Given the description of an element on the screen output the (x, y) to click on. 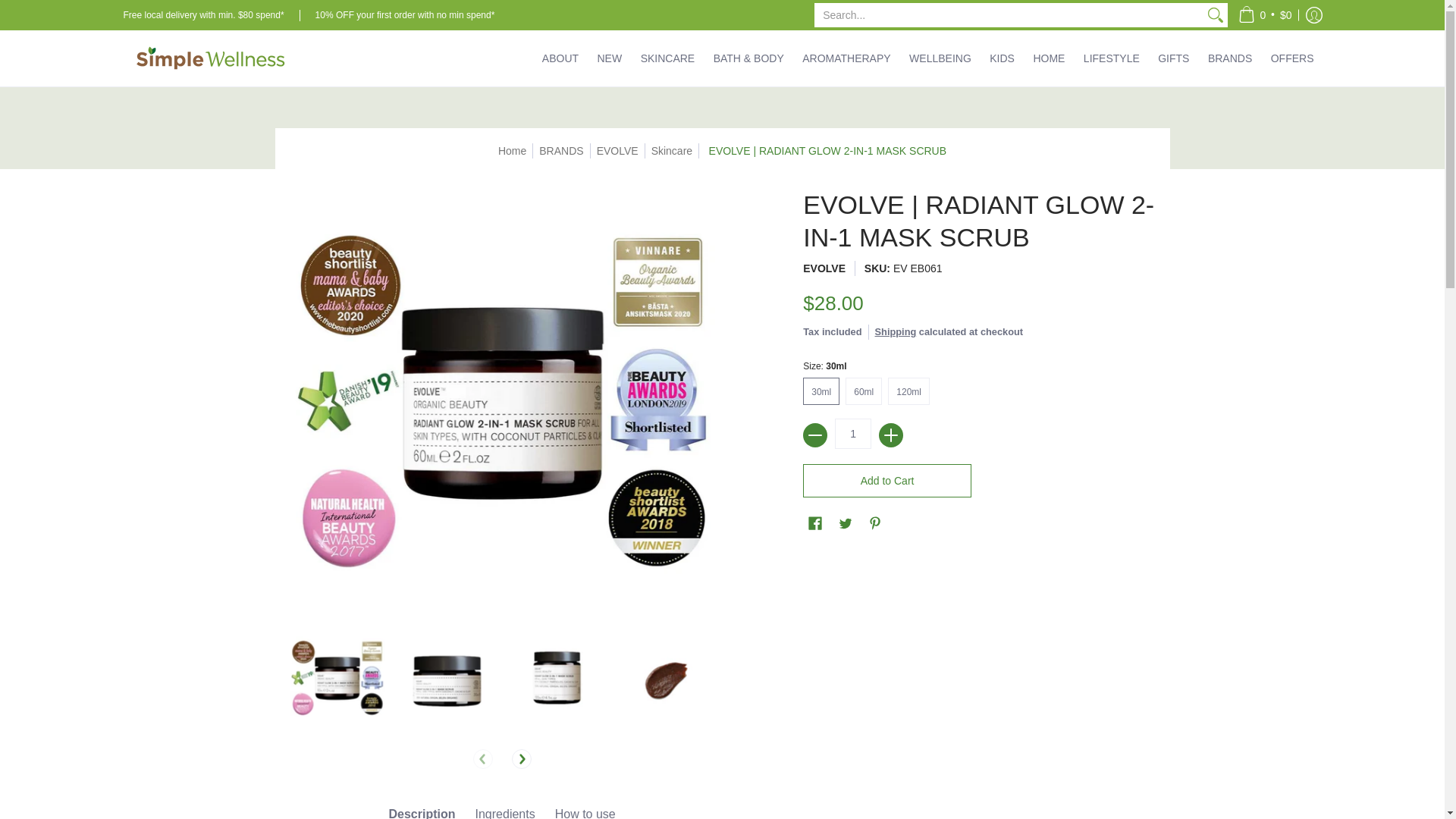
Simple Wellness  (209, 58)
SKINCARE (668, 58)
120ml (912, 390)
1 (852, 433)
ABOUT (560, 58)
30ml (824, 390)
Log in (1312, 15)
Cart (1264, 15)
60ml (866, 390)
ABOUT (560, 58)
